Given the description of an element on the screen output the (x, y) to click on. 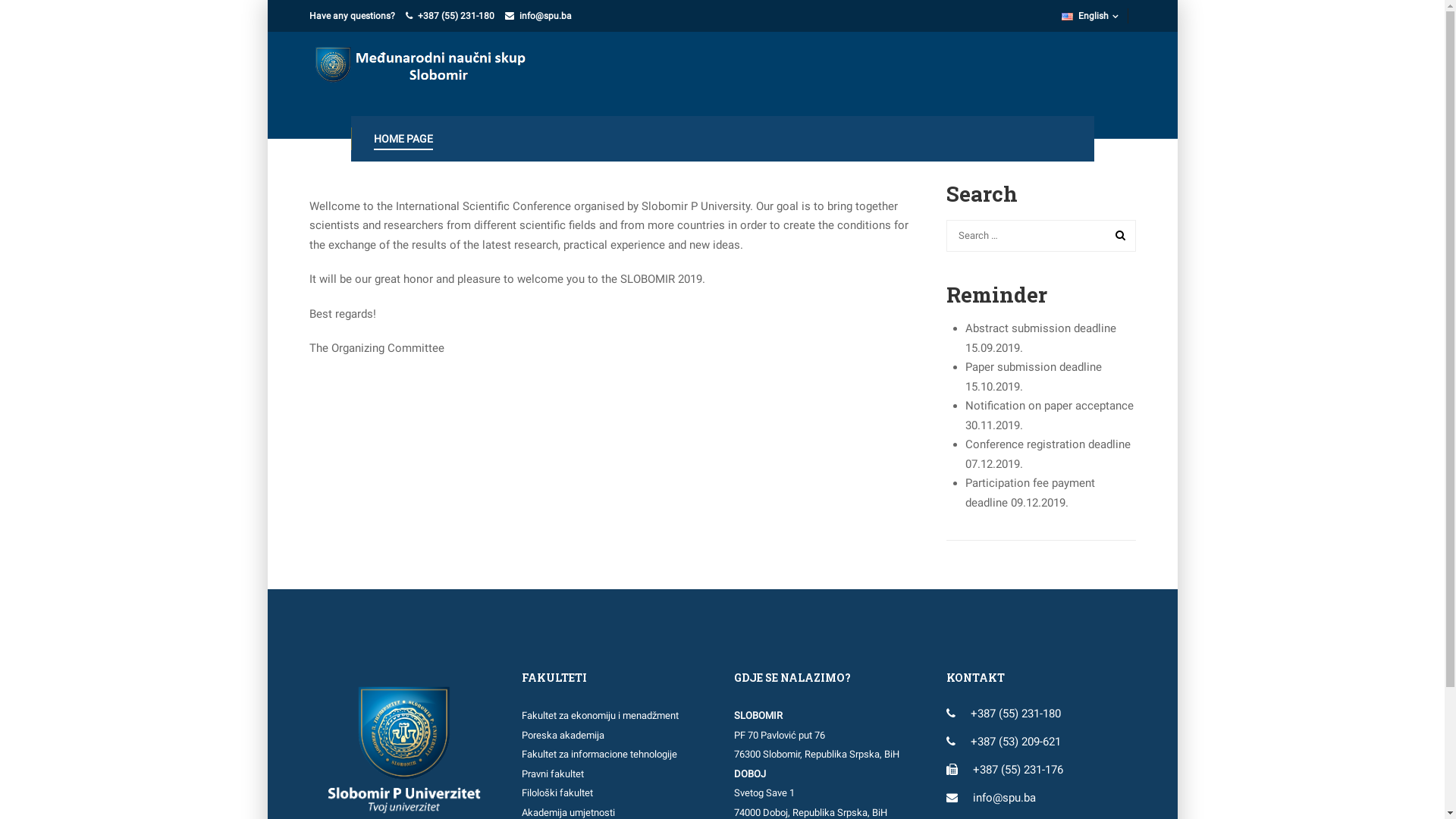
Pravni fakultet Element type: text (552, 773)
info@spu.ba Element type: text (544, 15)
English Element type: text (1094, 15)
+387 (53) 209-621 Element type: text (1015, 741)
Fakultet za informacione tehnologije Element type: text (599, 753)
Akademija umjetnosti Element type: text (568, 812)
HOME PAGE Element type: text (400, 138)
+387 (55) 231-176 Element type: text (1017, 769)
info@spu.ba Element type: text (1003, 797)
Search Element type: text (1116, 235)
+387 (55) 231-180 Element type: text (455, 15)
Poreska akademija Element type: text (562, 734)
+387 (55) 231-180 Element type: text (1015, 713)
